Given the description of an element on the screen output the (x, y) to click on. 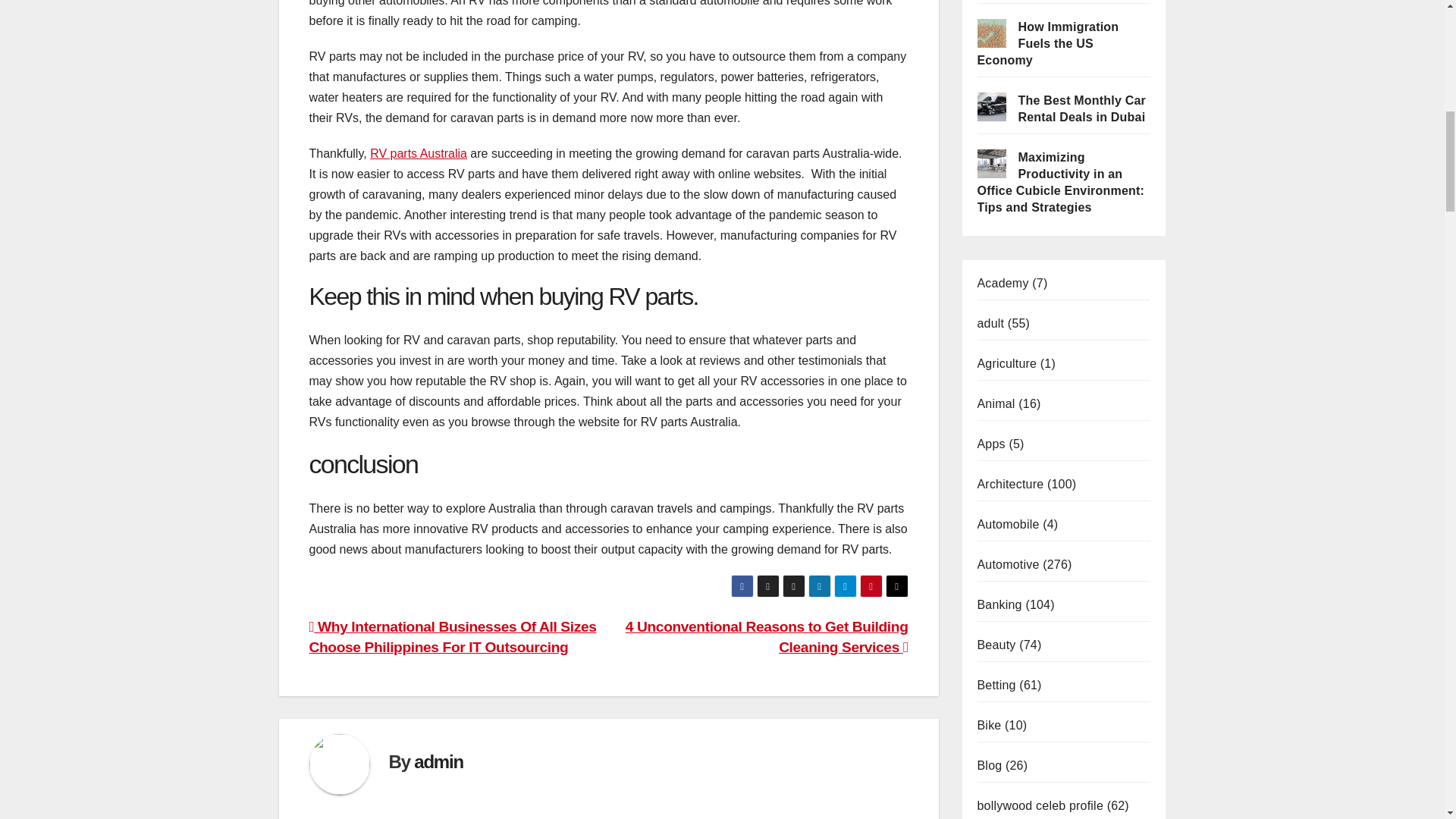
4 Unconventional Reasons to Get Building Cleaning Services (767, 637)
RV parts Australia (418, 153)
admin (438, 761)
